Given the description of an element on the screen output the (x, y) to click on. 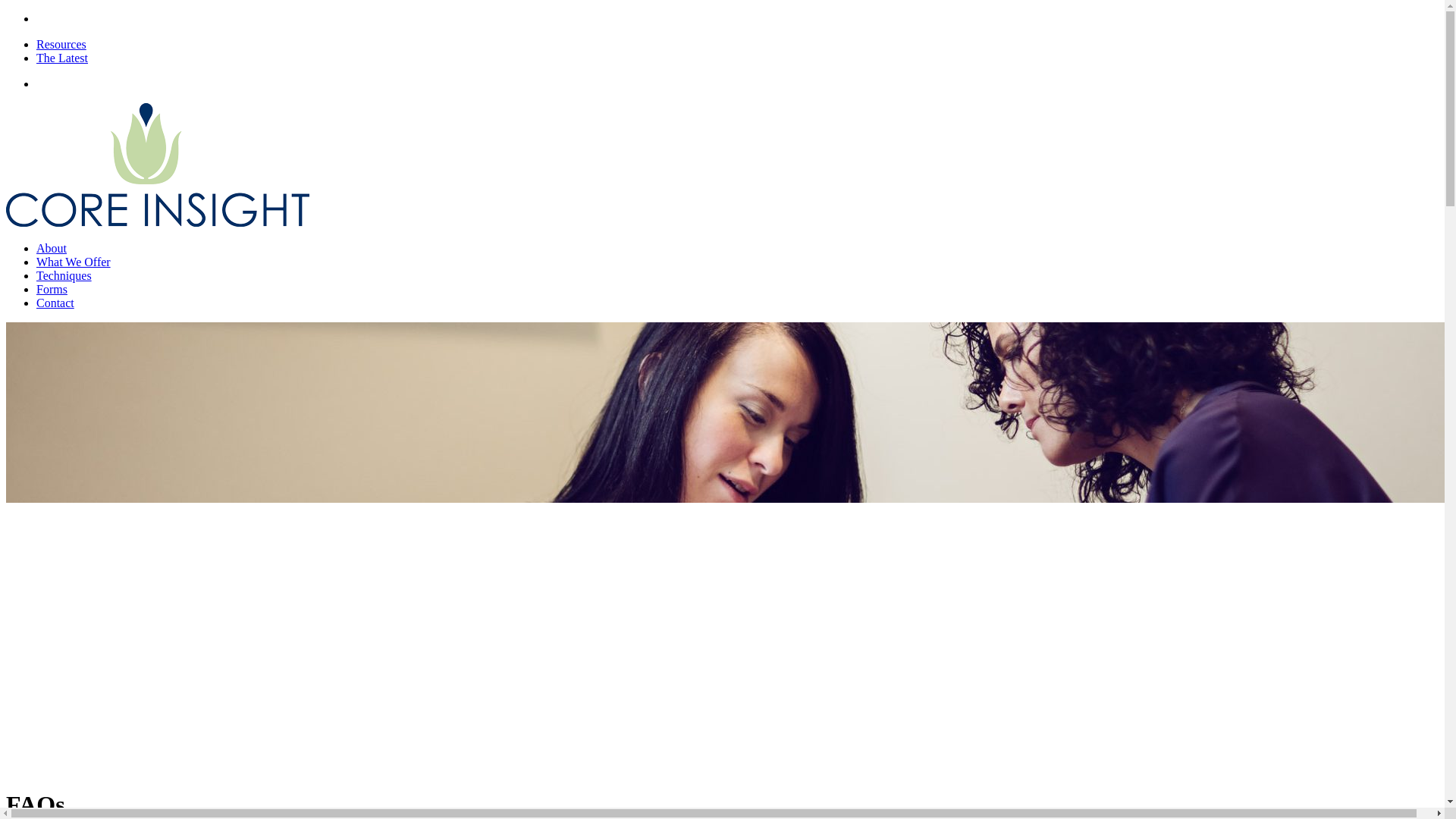
Techniques (63, 275)
About (51, 247)
Forms (51, 288)
Resources (60, 43)
The Latest (61, 57)
What We Offer (73, 261)
Contact (55, 302)
